Given the description of an element on the screen output the (x, y) to click on. 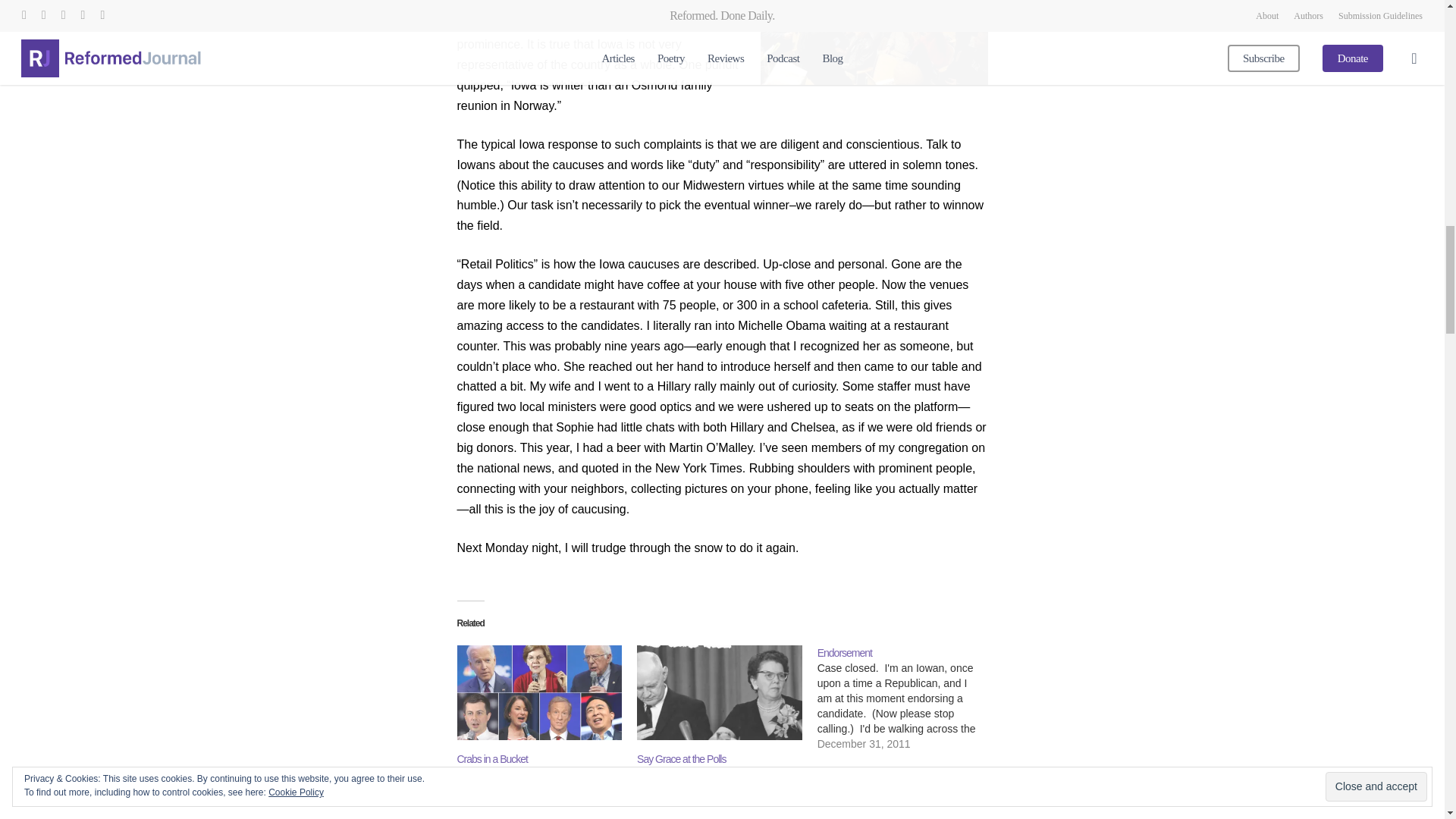
Say Grace at the Polls (681, 758)
Endorsement (844, 653)
Say Grace at the Polls (719, 692)
Crabs in a Bucket (539, 692)
Endorsement (906, 698)
Endorsement (844, 653)
Crabs in a Bucket (492, 758)
Say Grace at the Polls (681, 758)
Crabs in a Bucket (492, 758)
